Given the description of an element on the screen output the (x, y) to click on. 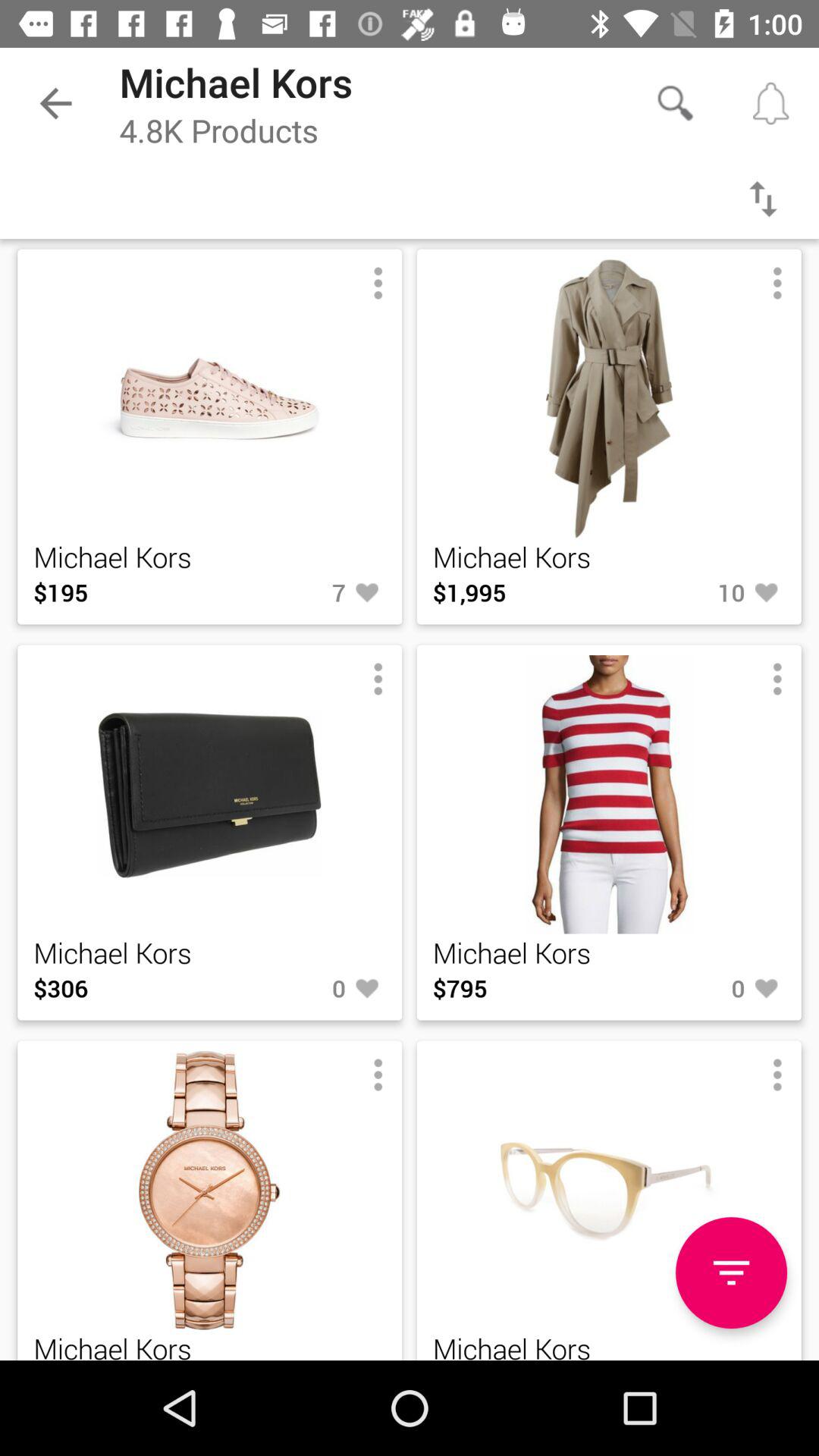
turn on icon next to $1,995 item (697, 592)
